Given the description of an element on the screen output the (x, y) to click on. 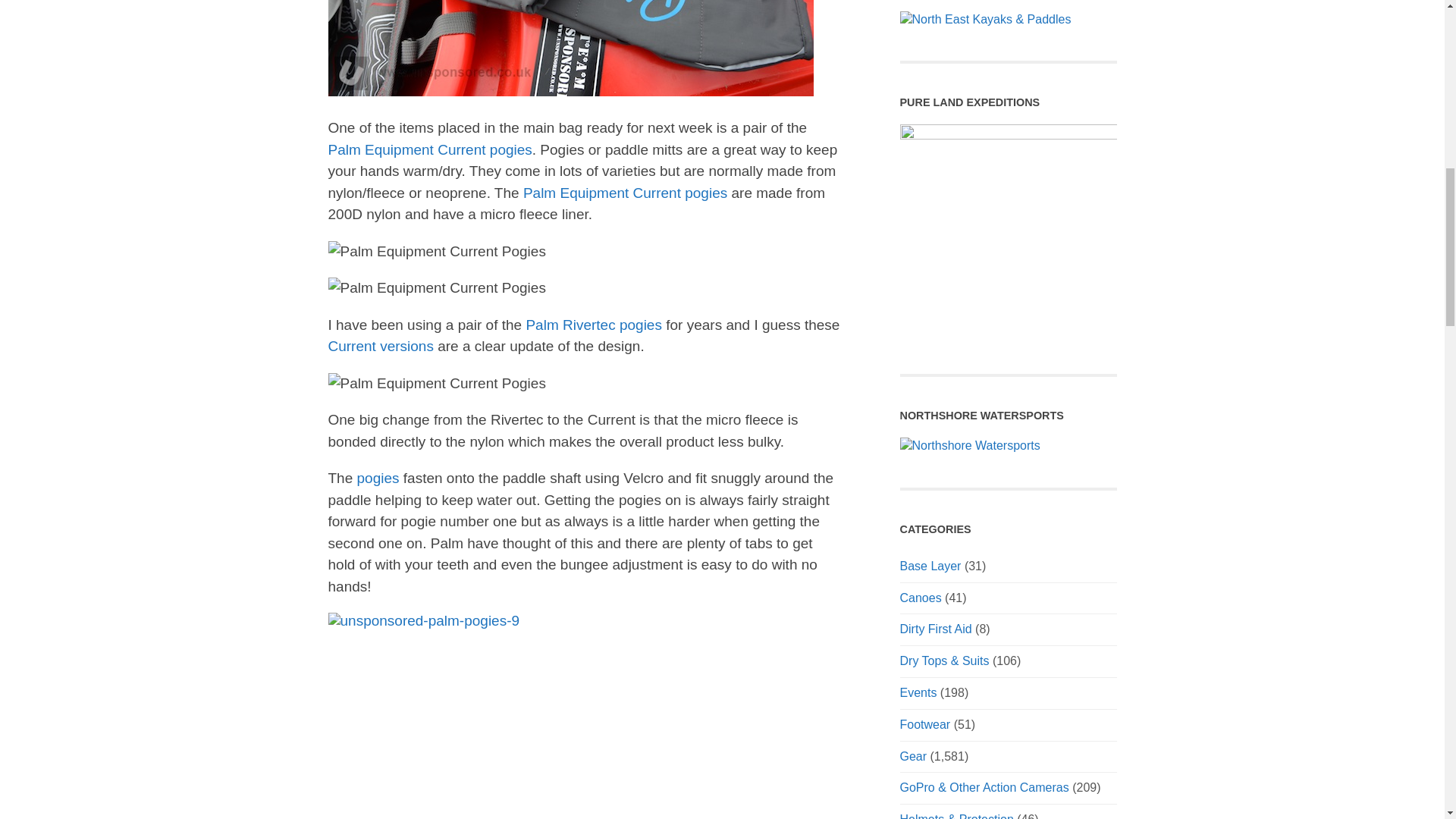
unsponsored-palm-pogies-9 (423, 620)
